Given the description of an element on the screen output the (x, y) to click on. 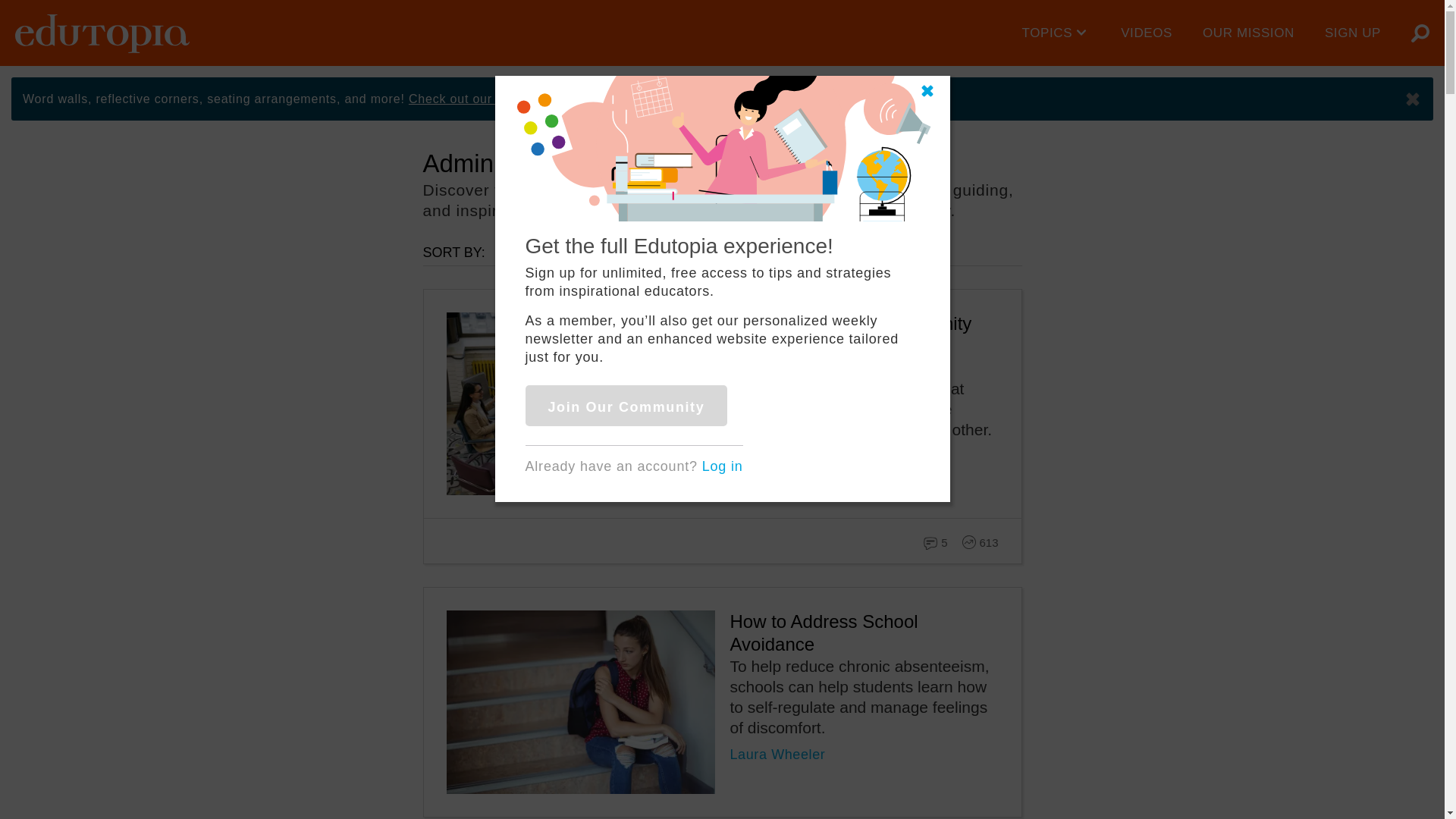
TOPICS (1056, 33)
Edutopia (101, 33)
Laura Wheeler (777, 754)
How to Address School Avoidance (823, 632)
Building Authentic Community During Meetings (850, 334)
Edutopia (101, 33)
5 (941, 540)
SIGN UP (1352, 33)
OUR MISSION (1248, 33)
Check out our classroom design collection (535, 98)
Ken Shelton (769, 456)
VIDEOS (1146, 33)
